Given the description of an element on the screen output the (x, y) to click on. 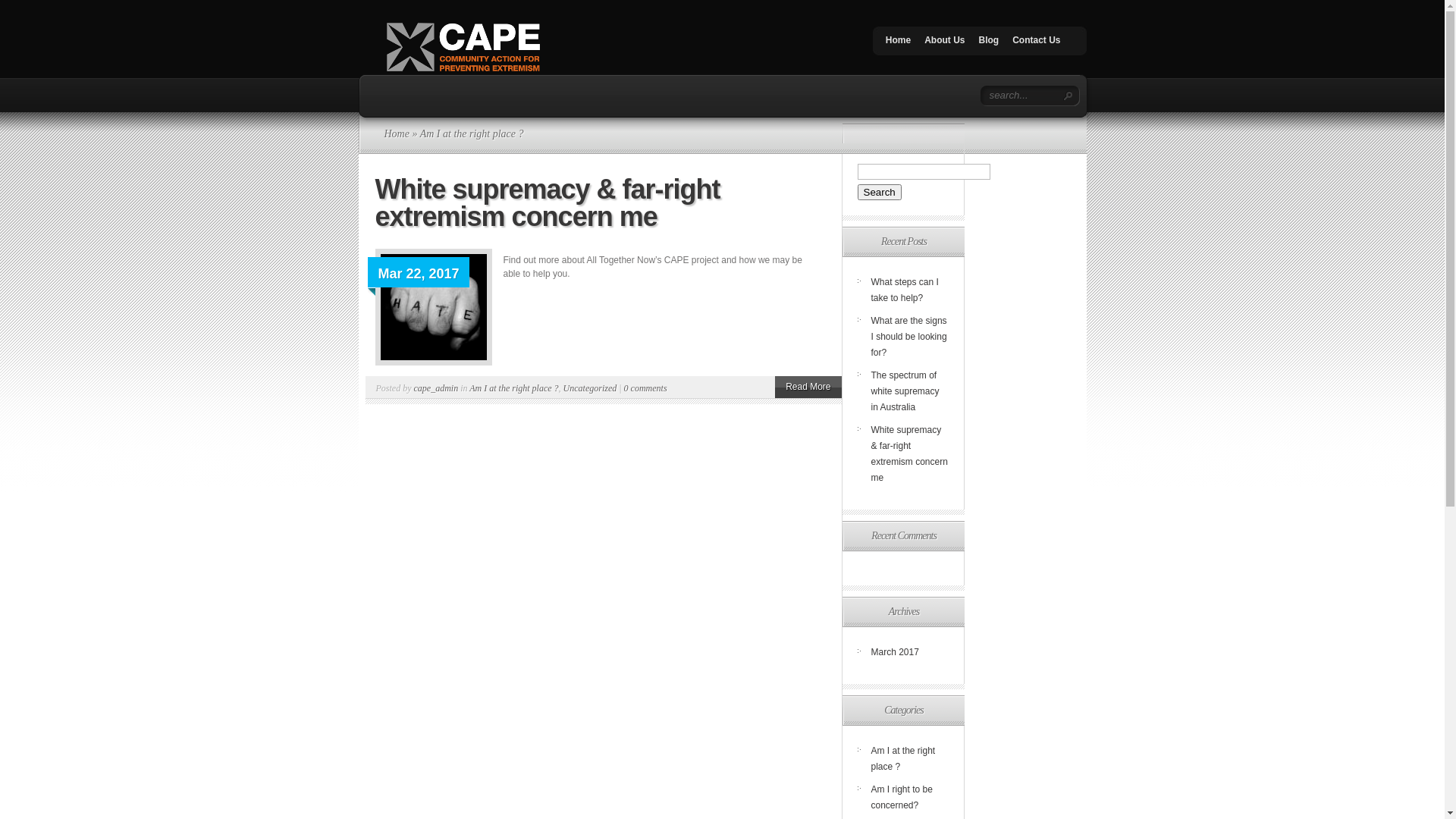
Home Element type: text (897, 43)
Am I at the right place ? Element type: text (513, 387)
cape_admin Element type: text (436, 387)
March 2017 Element type: text (894, 651)
The spectrum of white supremacy in Australia Element type: text (904, 391)
Contact Us Element type: text (1035, 43)
Am I at the right place ? Element type: text (902, 758)
Am I right to be concerned? Element type: text (900, 797)
What steps can I take to help? Element type: text (904, 289)
Search Element type: text (878, 192)
White supremacy & far-right extremism concern me Element type: text (908, 453)
About Us Element type: text (944, 43)
What are the signs I should be looking for? Element type: text (908, 336)
White supremacy & far-right extremism concern me Element type: text (546, 202)
0 comments Element type: text (645, 387)
Home Element type: text (395, 133)
Read More Element type: text (807, 387)
Blog Element type: text (988, 43)
Uncategorized Element type: text (590, 387)
